Given the description of an element on the screen output the (x, y) to click on. 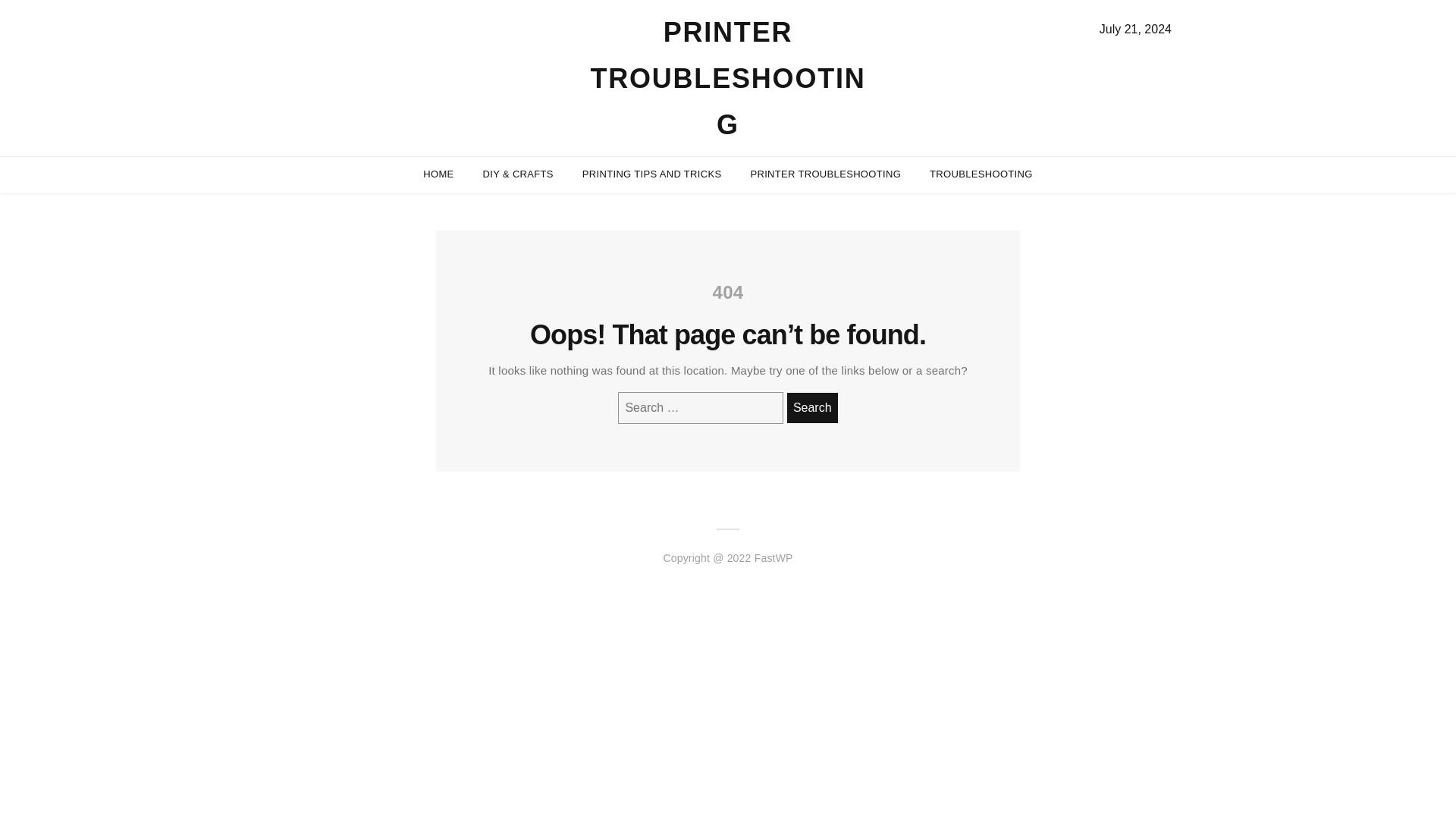
PRINTER TROUBLESHOOTING (825, 174)
Search (812, 408)
HOME (437, 174)
Search (812, 408)
TROUBLESHOOTING (981, 174)
Printer Troubleshooting (726, 78)
Search (812, 408)
PRINTING TIPS AND TRICKS (652, 174)
PRINTER TROUBLESHOOTING (726, 78)
